Given the description of an element on the screen output the (x, y) to click on. 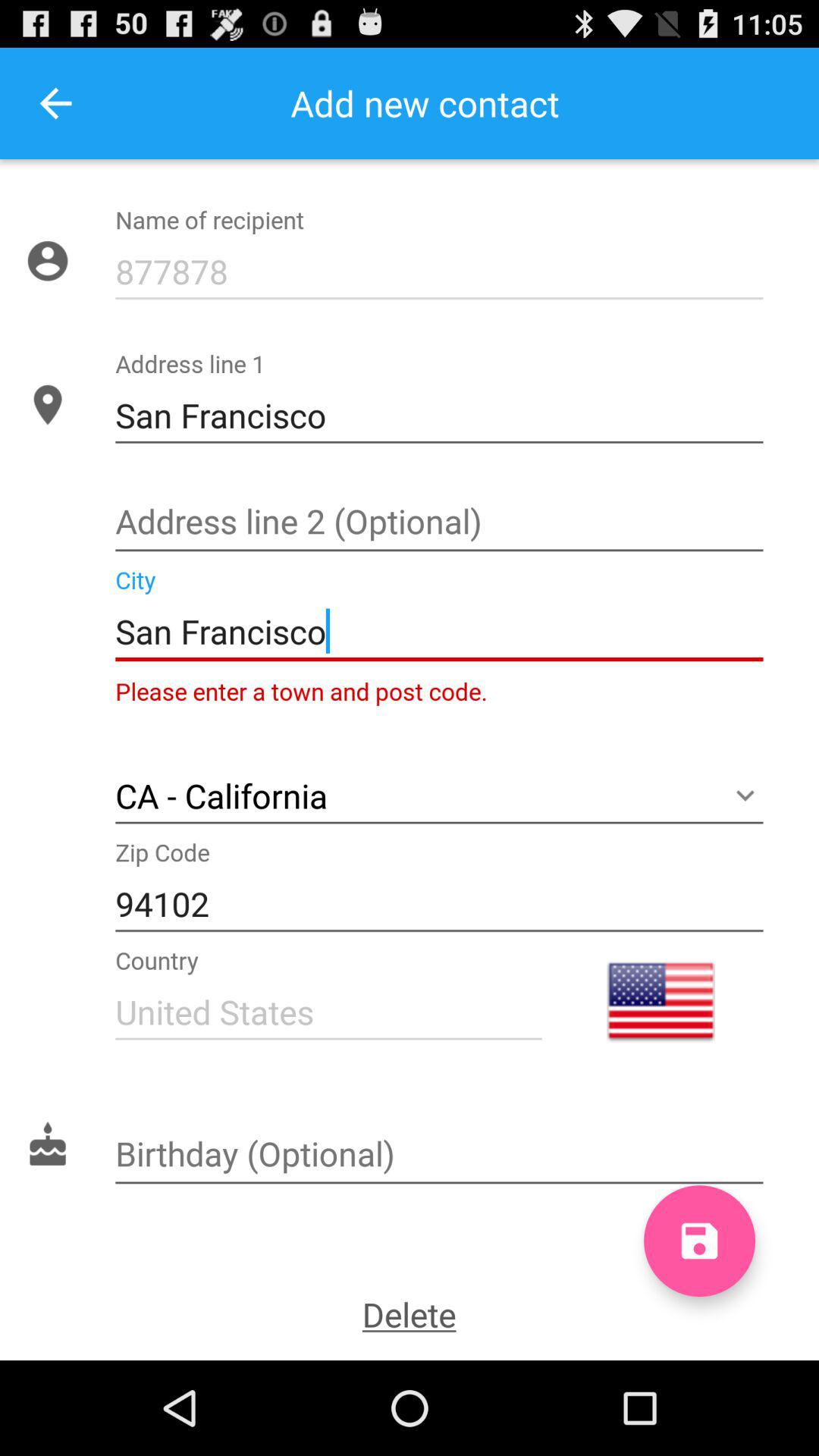
add information (439, 523)
